Given the description of an element on the screen output the (x, y) to click on. 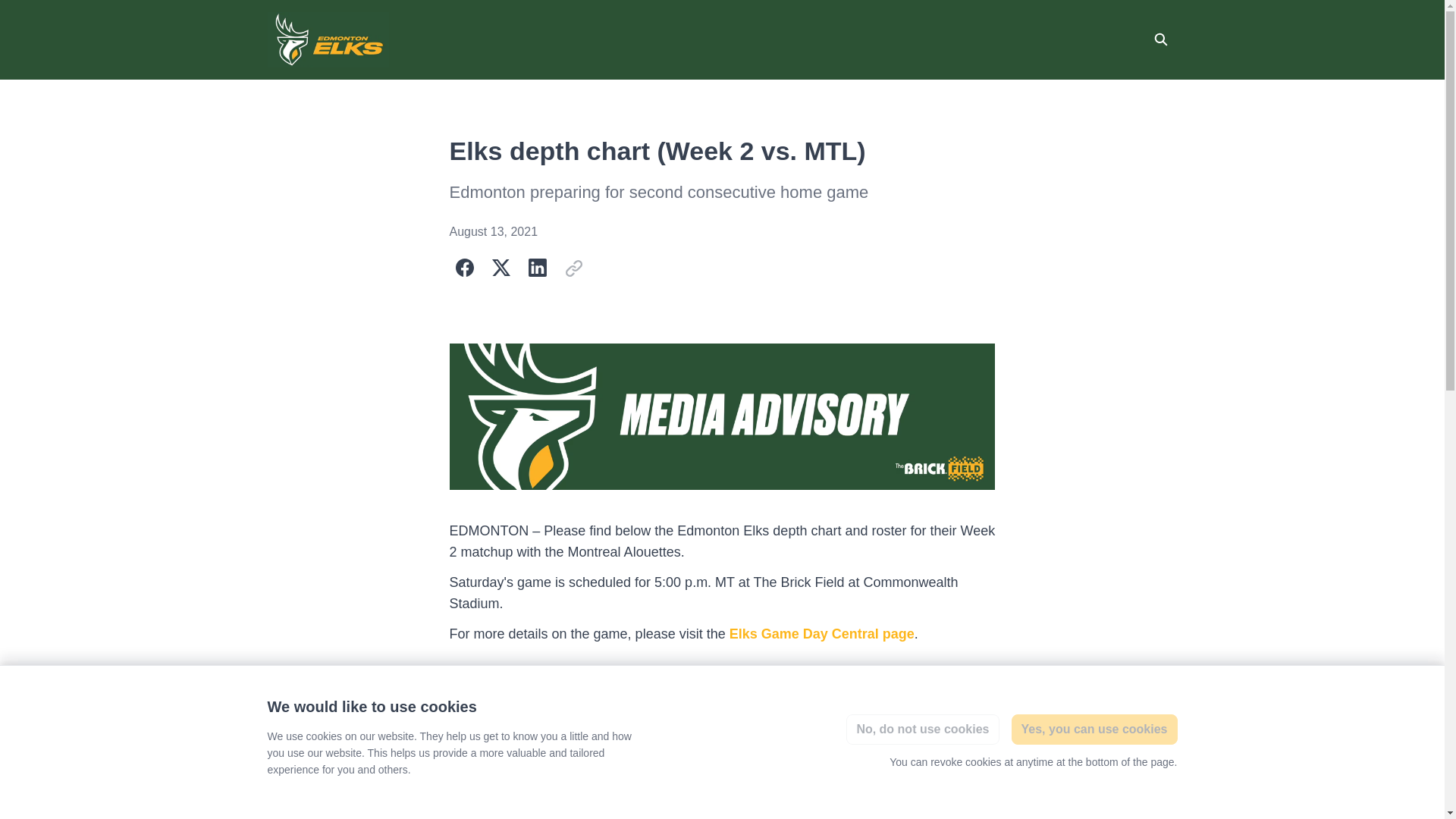
No, do not use cookies (921, 729)
Yes, you can use cookies (1094, 729)
Copy URL (572, 266)
Search (1159, 39)
Elks Game Day Central page (821, 633)
THE EDMONTON ELKS FOOTBALL CLUB (327, 39)
